Given the description of an element on the screen output the (x, y) to click on. 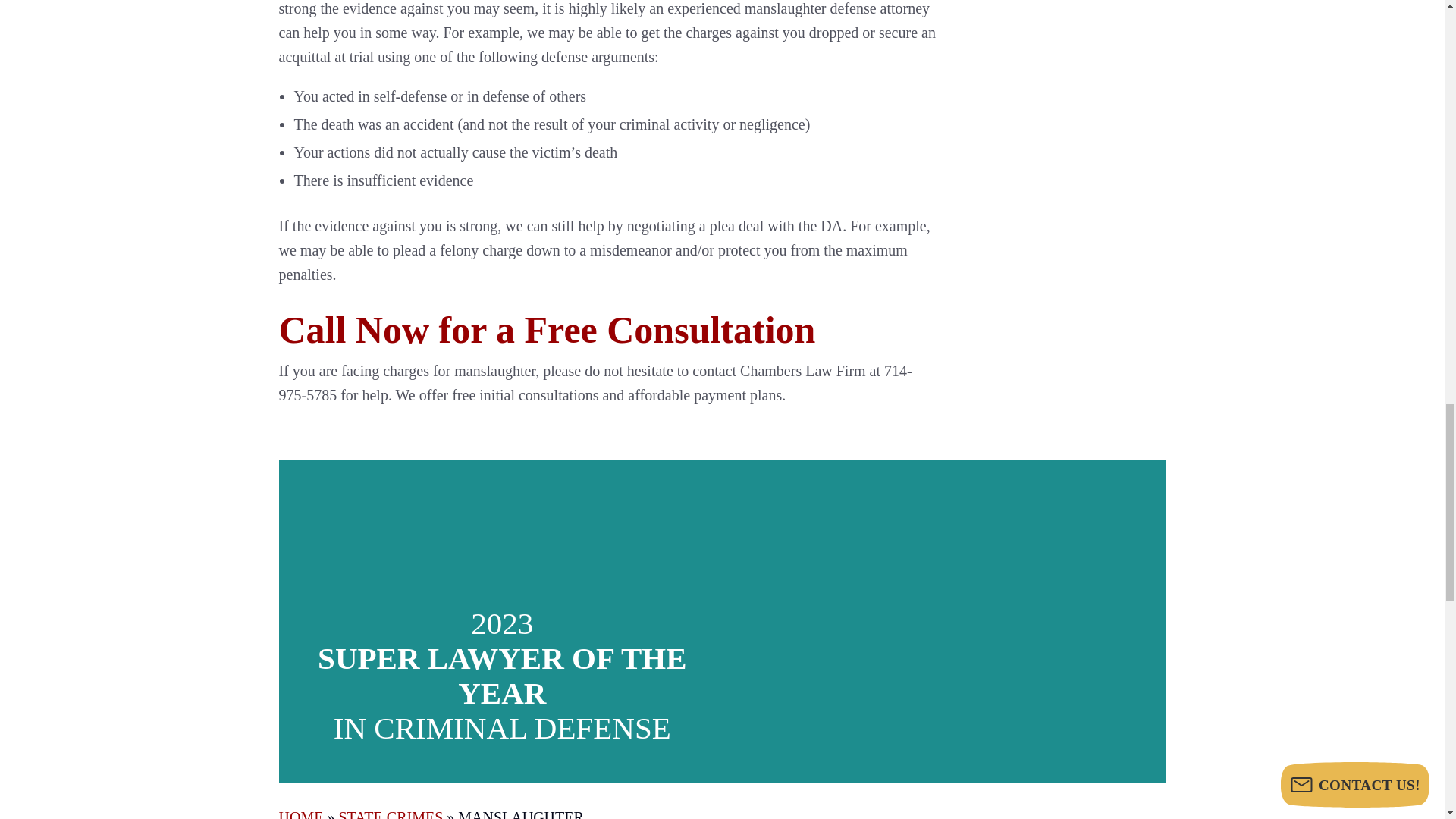
About Chambers Law Firm (941, 621)
